Given the description of an element on the screen output the (x, y) to click on. 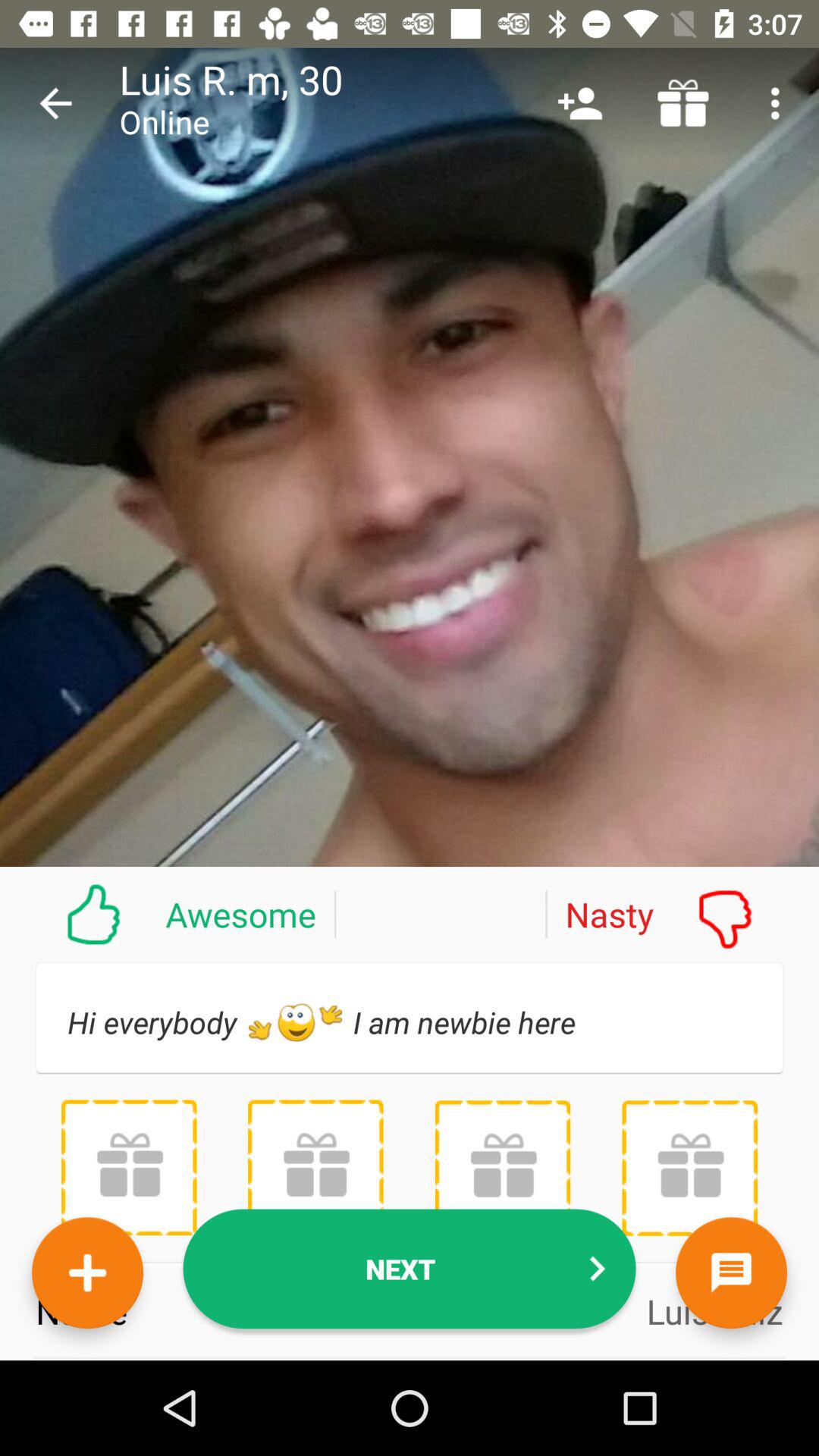
send a gift (689, 1167)
